Given the description of an element on the screen output the (x, y) to click on. 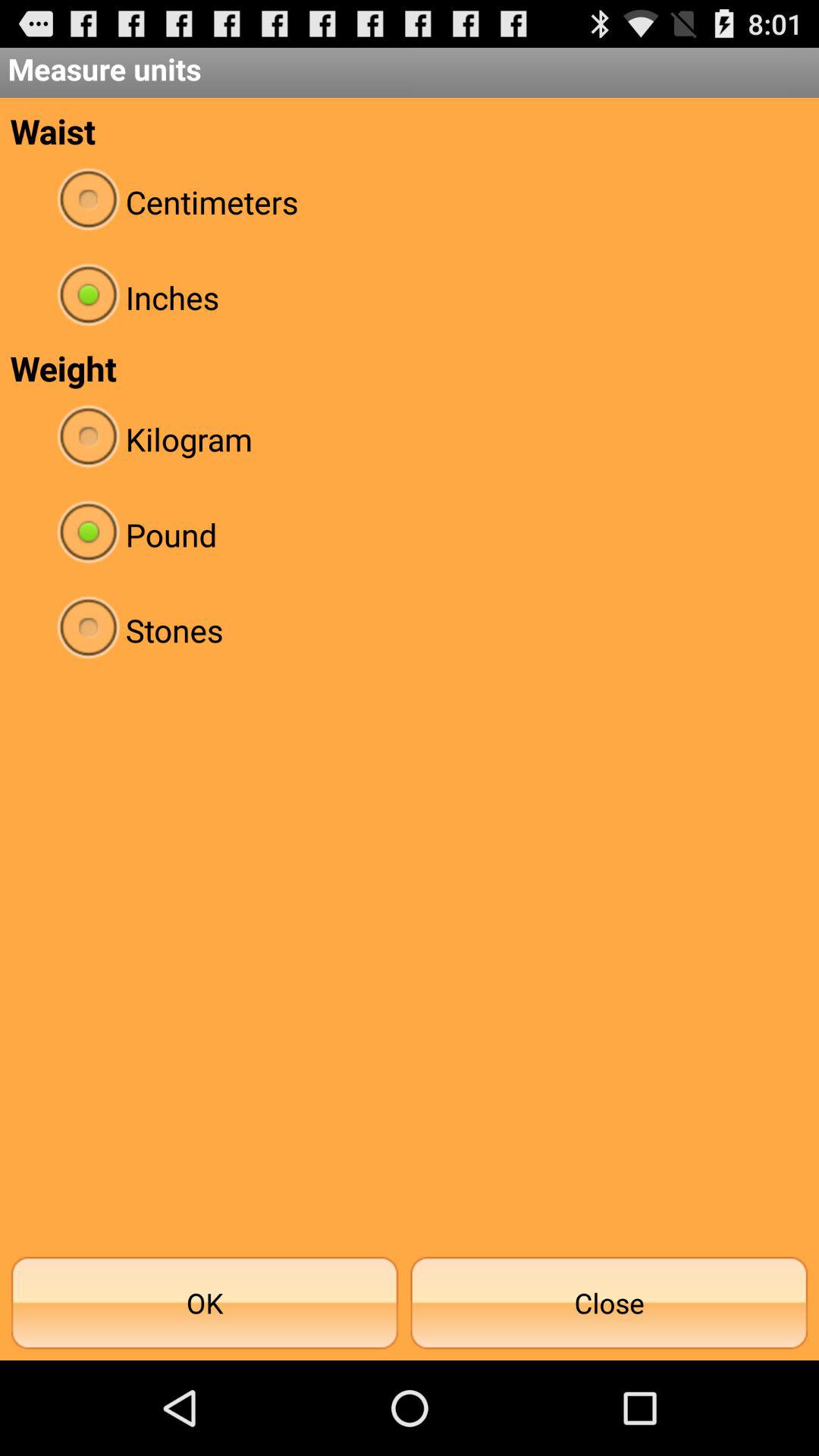
scroll until the inches item (409, 297)
